Given the description of an element on the screen output the (x, y) to click on. 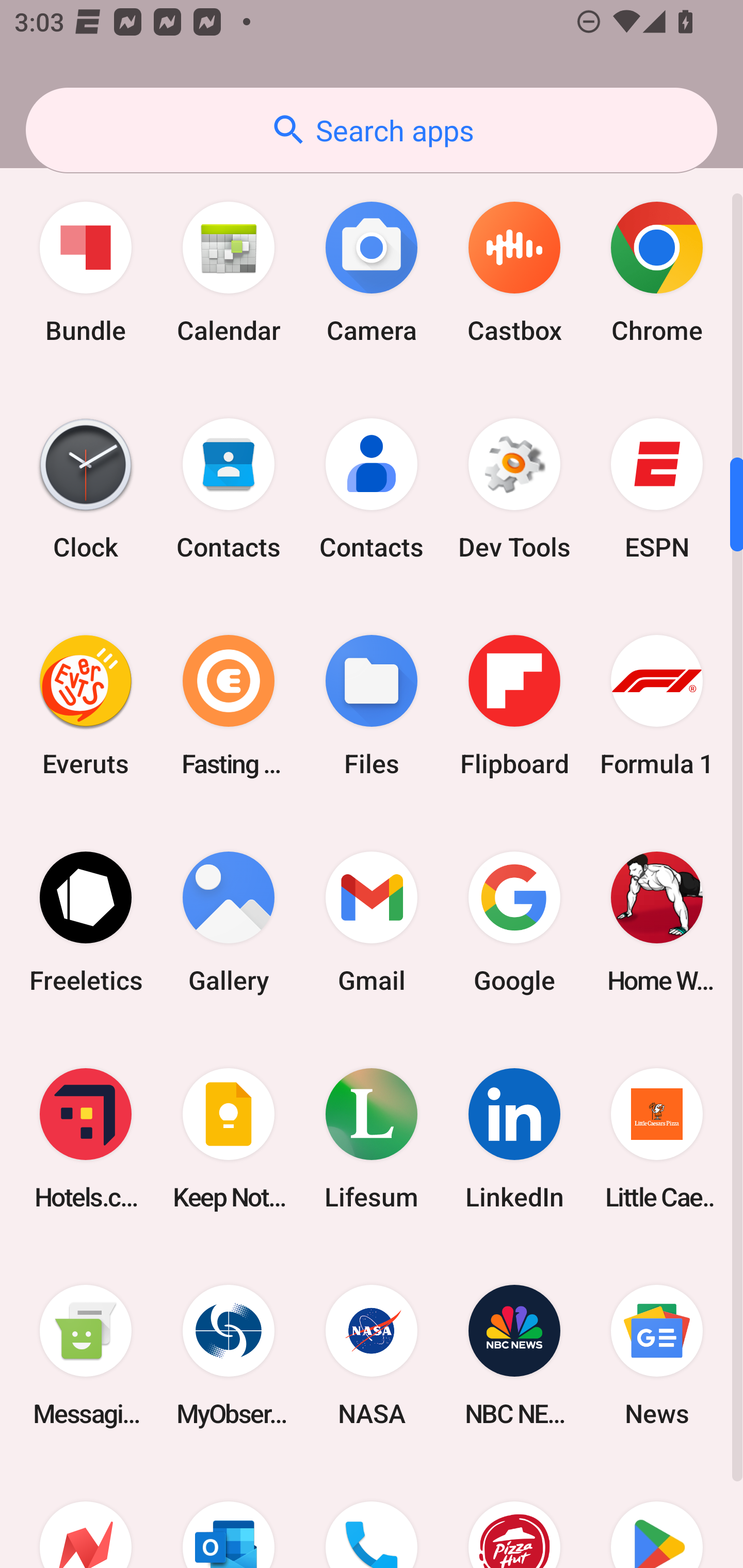
  Search apps (371, 130)
Bundle (85, 272)
Calendar (228, 272)
Camera (371, 272)
Castbox (514, 272)
Chrome (656, 272)
Clock (85, 489)
Contacts (228, 489)
Contacts (371, 489)
Dev Tools (514, 489)
ESPN (656, 489)
Everuts (85, 705)
Fasting Coach (228, 705)
Files (371, 705)
Flipboard (514, 705)
Formula 1 (656, 705)
Freeletics (85, 921)
Gallery (228, 921)
Gmail (371, 921)
Google (514, 921)
Home Workout (656, 921)
Hotels.com (85, 1138)
Keep Notes (228, 1138)
Lifesum (371, 1138)
LinkedIn (514, 1138)
Little Caesars Pizza (656, 1138)
Messaging (85, 1355)
MyObservatory (228, 1355)
NASA (371, 1355)
NBC NEWS (514, 1355)
News (656, 1355)
NewsBreak (85, 1516)
Outlook (228, 1516)
Phone (371, 1516)
Pizza Hut HK & Macau (514, 1516)
Play Store (656, 1516)
